Given the description of an element on the screen output the (x, y) to click on. 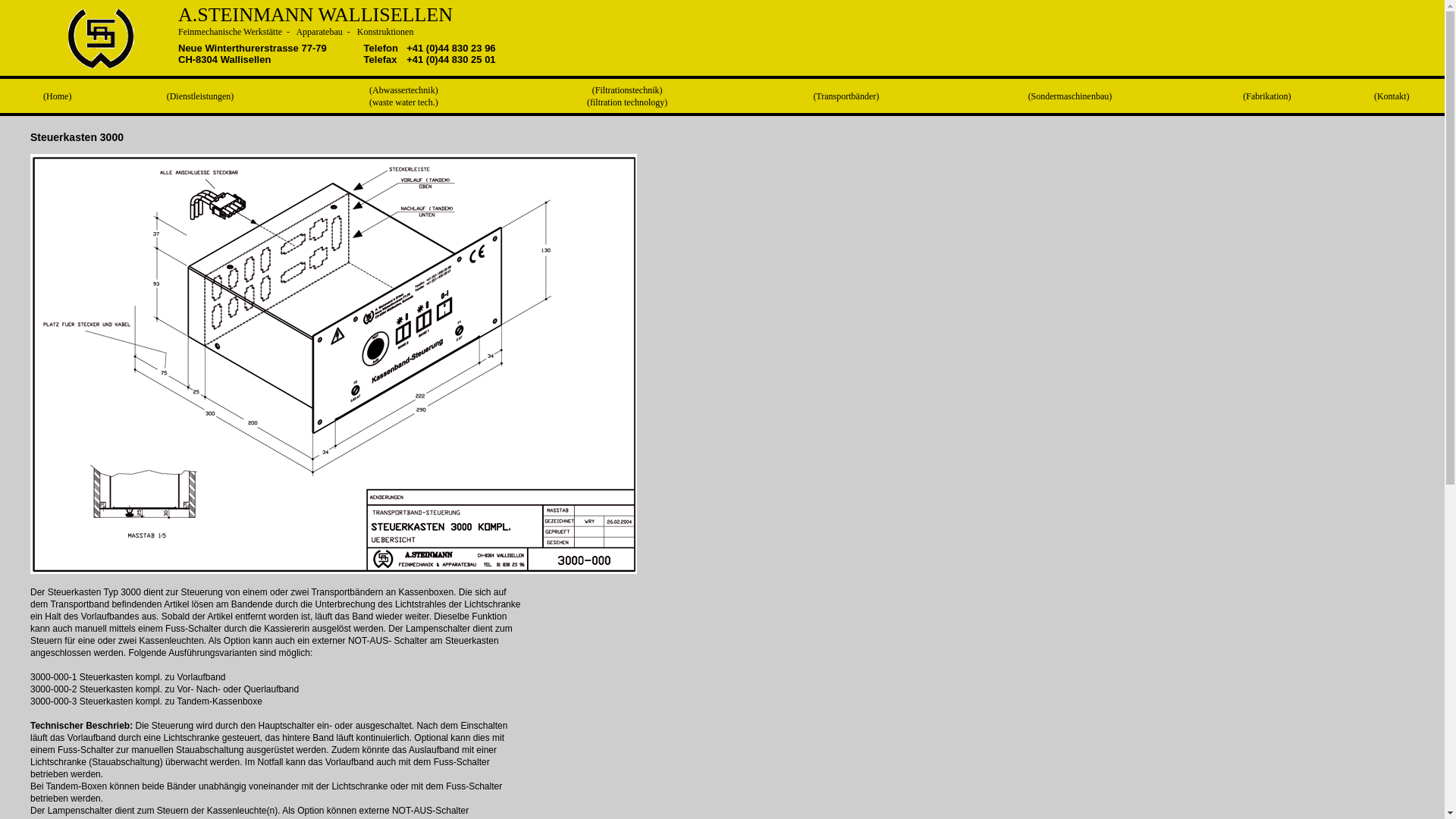
(Dienstleistungen) Element type: text (200, 96)
(Kontakt) Element type: text (1391, 96)
(Abwassertechnik) Element type: text (403, 89)
(Home) Element type: text (57, 96)
(Fabrikation) Element type: text (1266, 96)
(waste water tech.) Element type: text (403, 102)
(Sondermaschinenbau) Element type: text (1070, 96)
(Filtrationstechnik) Element type: text (627, 89)
(filtration technology) Element type: text (626, 102)
